Given the description of an element on the screen output the (x, y) to click on. 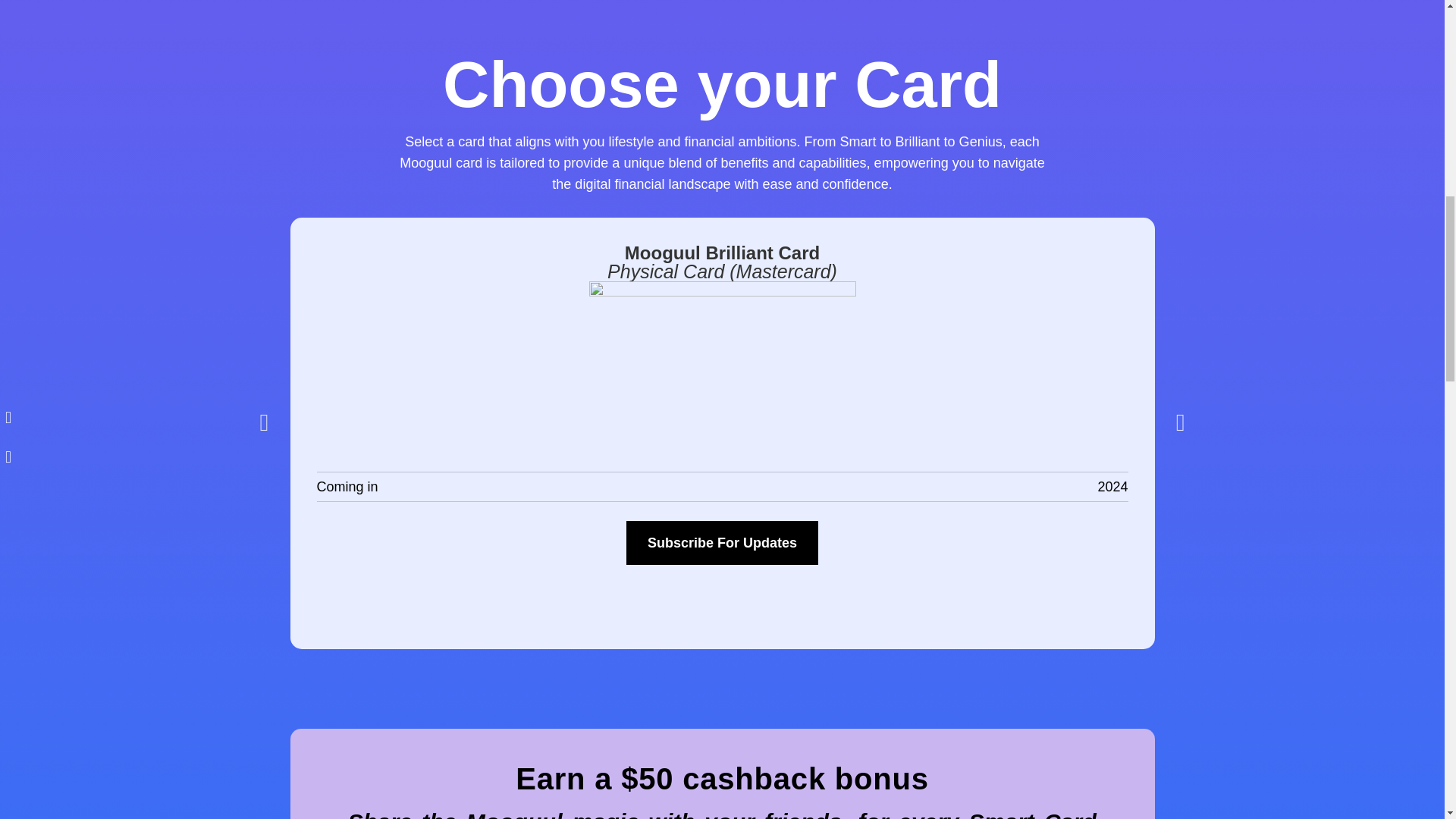
Subscribe For Updates (722, 542)
